Given the description of an element on the screen output the (x, y) to click on. 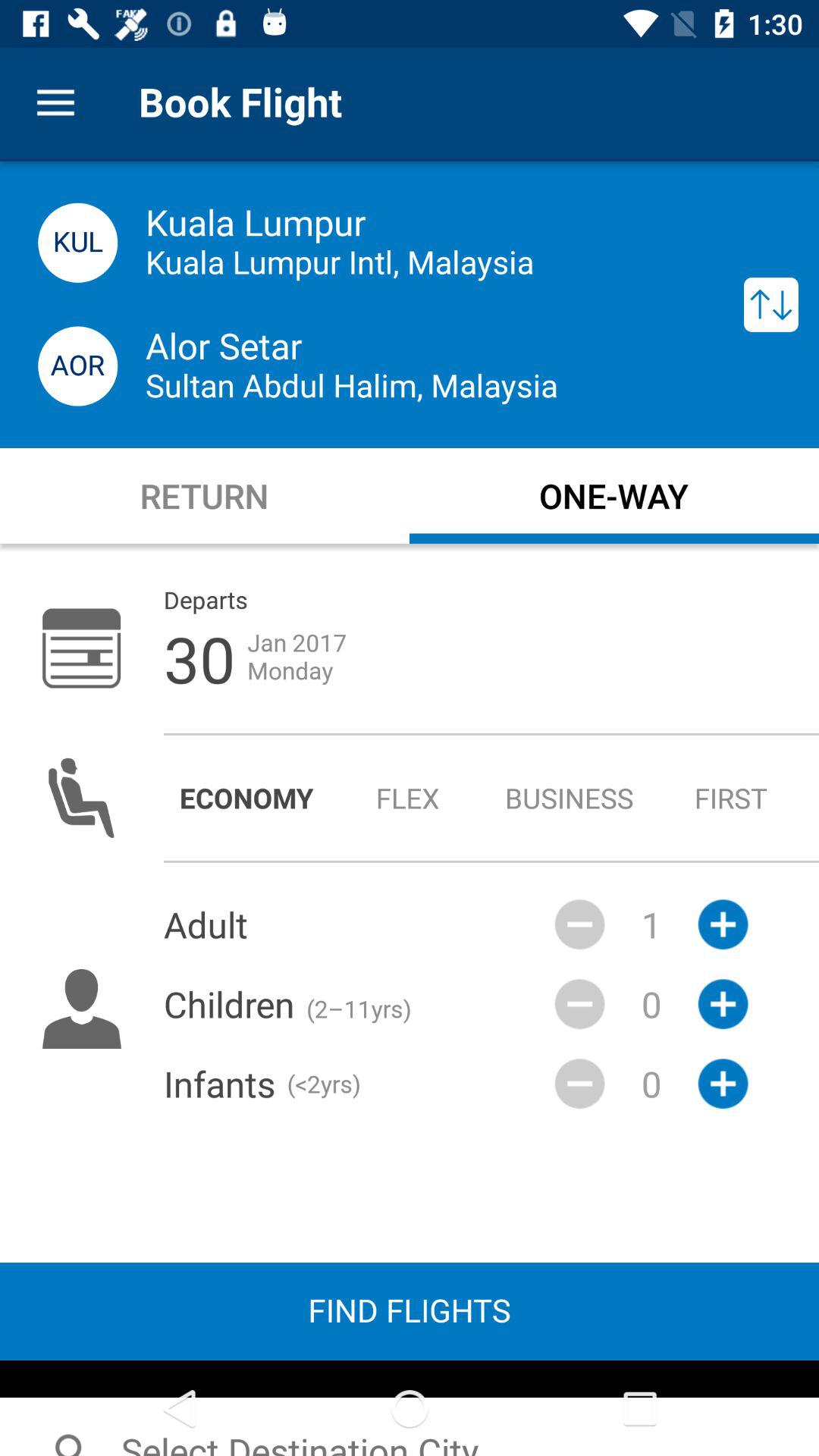
swipe to business item (569, 797)
